Given the description of an element on the screen output the (x, y) to click on. 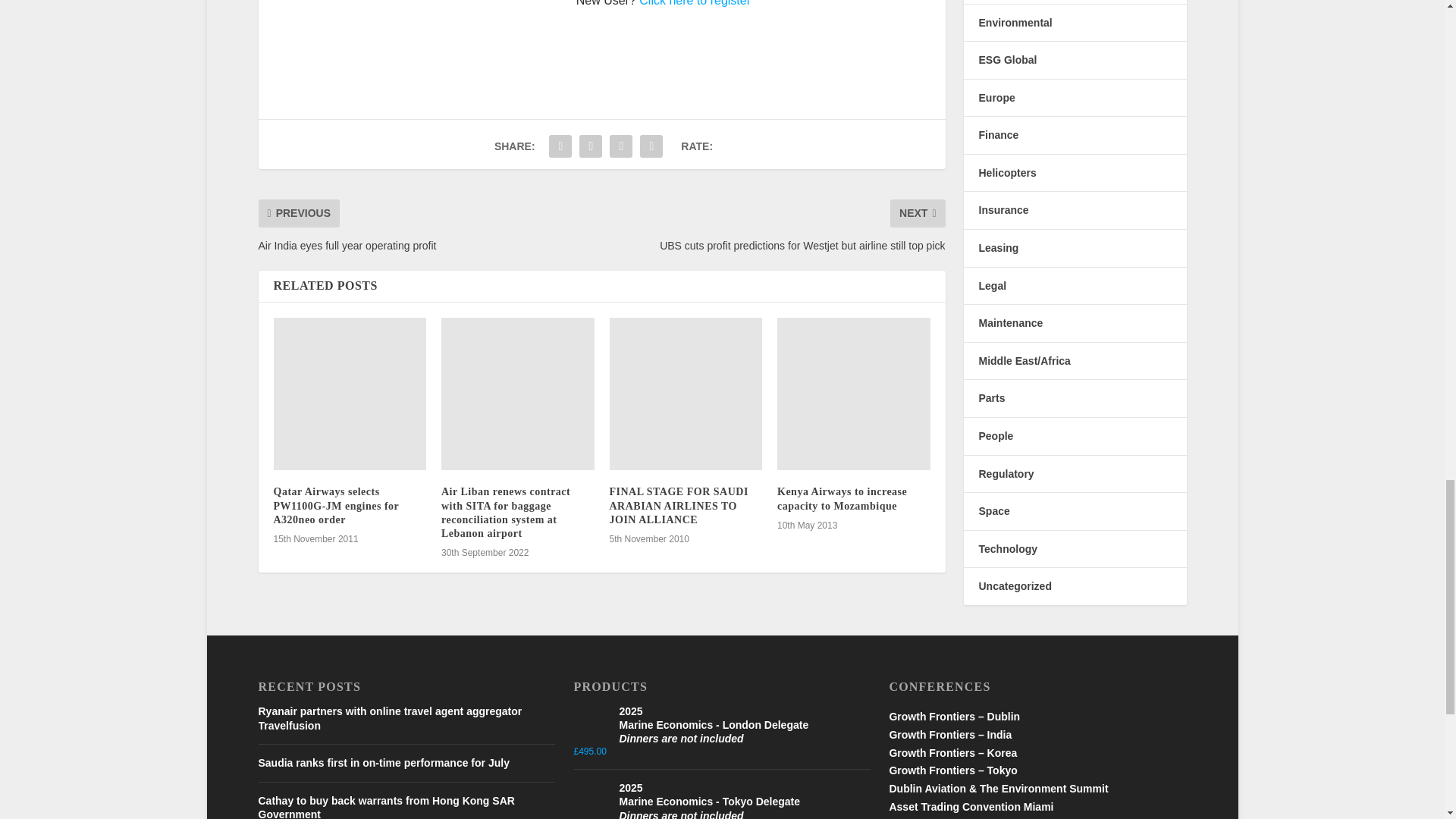
Qatar Airways selects PW1100G-JM engines for A320neo order (349, 393)
Kenya Airways to increase capacity to Mozambique (853, 393)
FINAL STAGE FOR SAUDI ARABIAN AIRLINES TO JOIN ALLIANCE (686, 393)
